Given the description of an element on the screen output the (x, y) to click on. 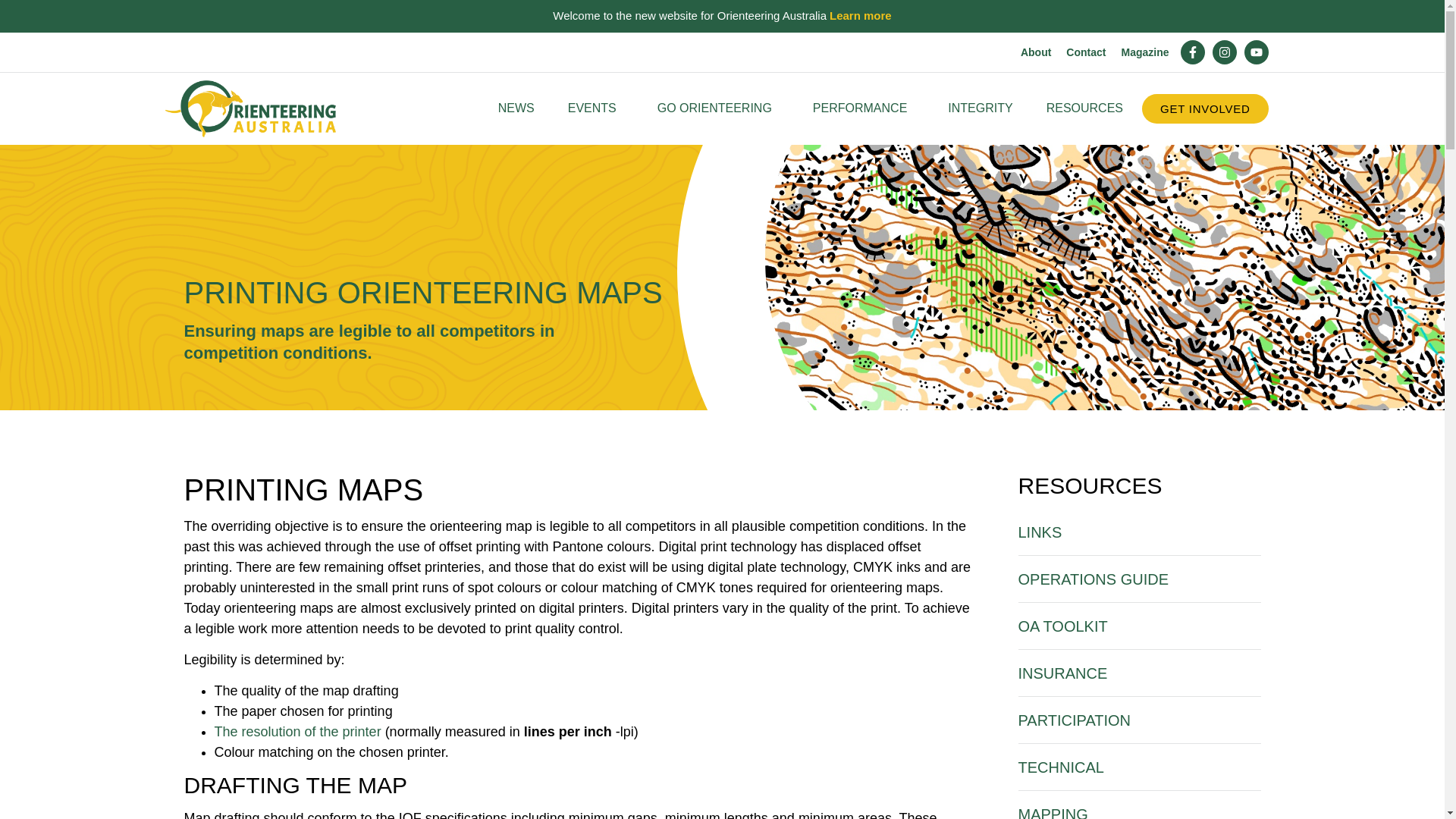
EVENTS (595, 108)
INTEGRITY (979, 108)
Contact (1085, 51)
GO ORIENTEERING (718, 108)
PERFORMANCE (863, 108)
RESOURCES (1088, 108)
Learn more (860, 16)
About (1035, 51)
Magazine (1145, 51)
NEWS (515, 108)
